Given the description of an element on the screen output the (x, y) to click on. 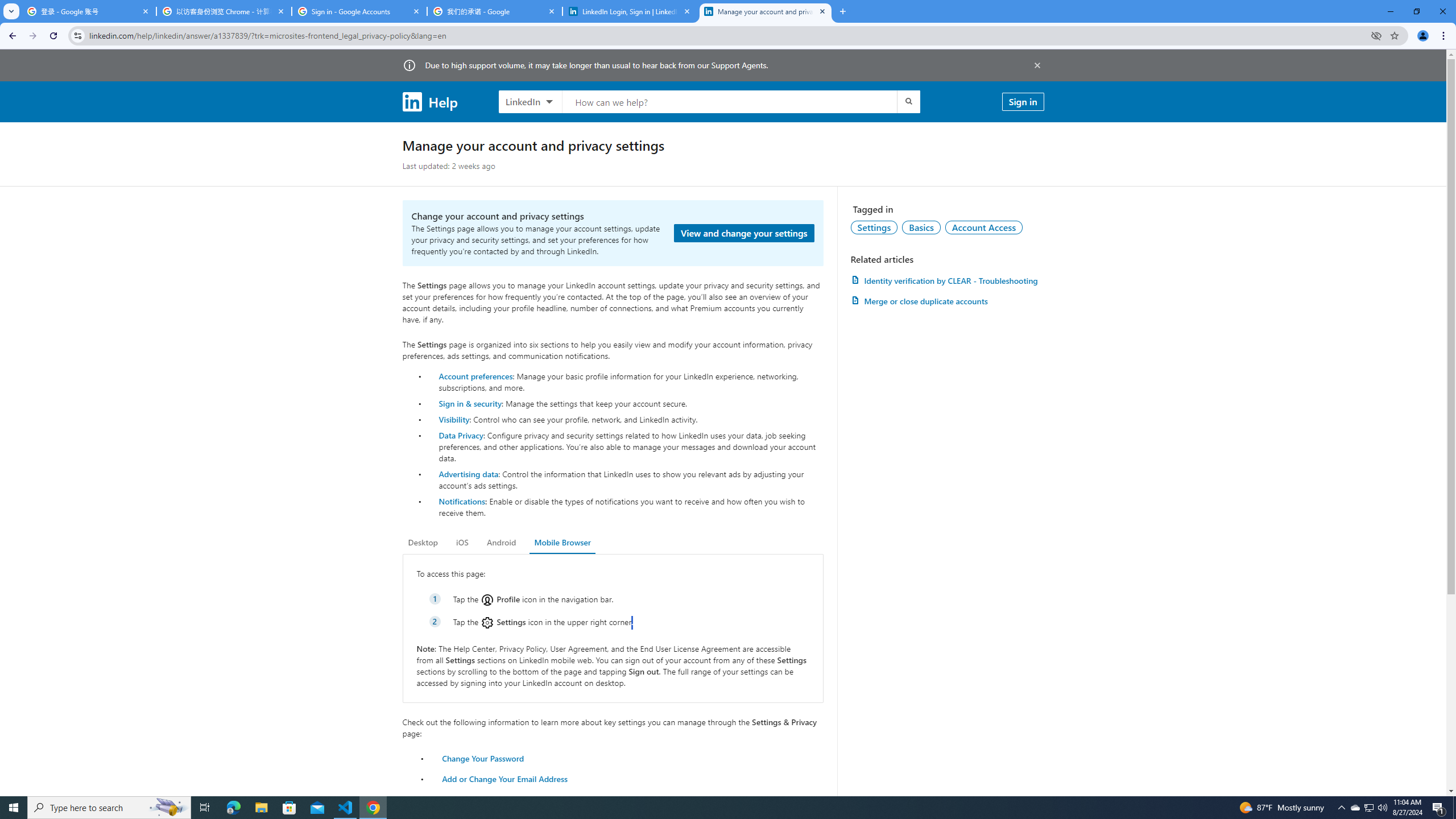
Merge or close duplicate accounts (946, 300)
Manage your account and privacy settings | LinkedIn Help (765, 11)
LinkedIn products to search, LinkedIn selected (530, 101)
Mobile Browser (562, 542)
Identity verification by CLEAR - Troubleshooting (946, 280)
AutomationID: article-link-a1457505 (946, 280)
Sign in & security (470, 402)
